Given the description of an element on the screen output the (x, y) to click on. 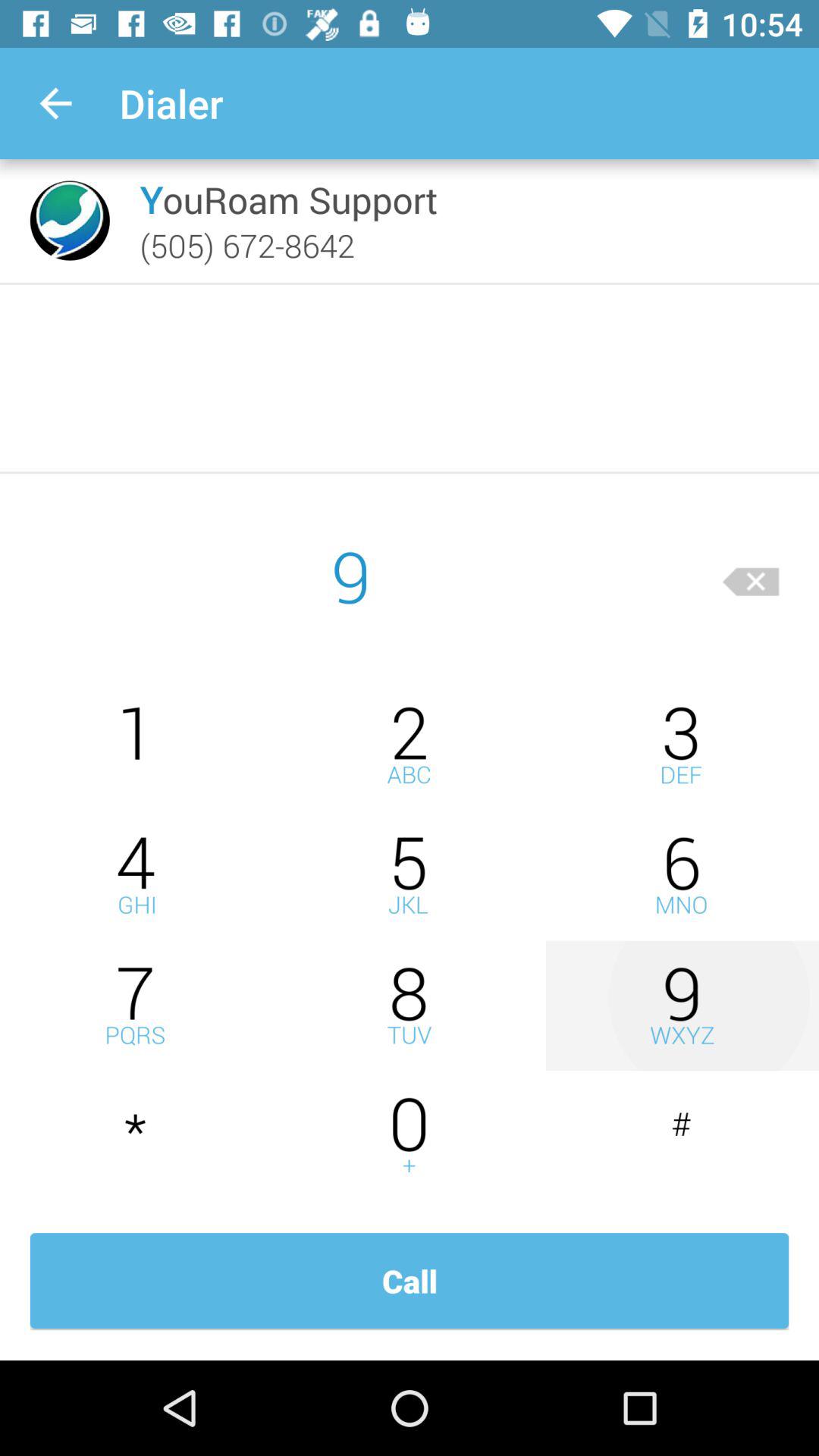
click number two (409, 745)
